Given the description of an element on the screen output the (x, y) to click on. 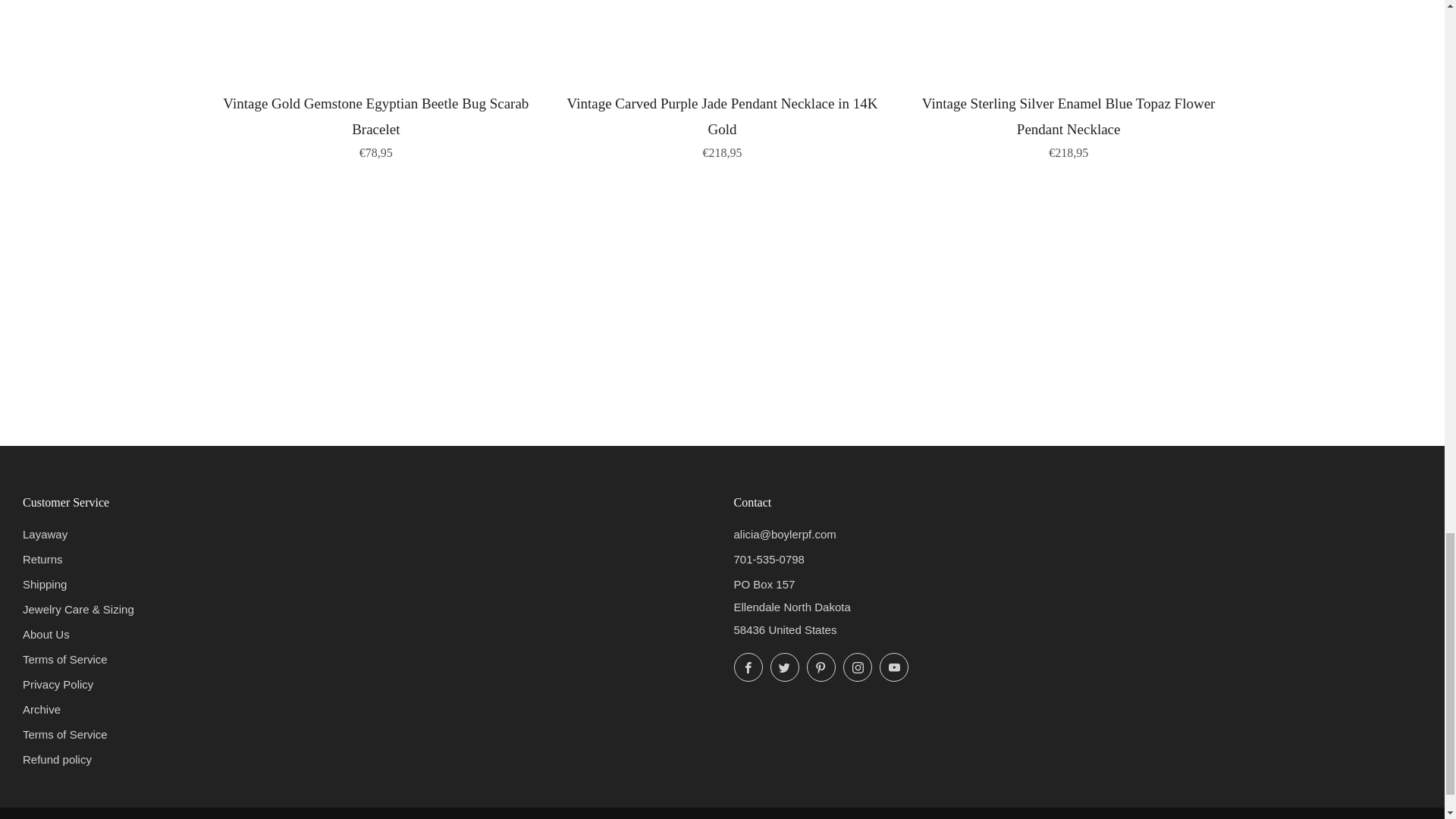
Discover (197, 817)
Visa (358, 817)
Diners Club (164, 817)
American Express (131, 817)
Venmo (326, 817)
Vintage Carved Purple Jade Pendant Necklace in 14K Gold (721, 124)
Vintage Gold Gemstone Egyptian Beetle Bug Scarab Bracelet (376, 124)
Shop Pay (294, 817)
PayPal (261, 817)
Mastercard (229, 817)
